Given the description of an element on the screen output the (x, y) to click on. 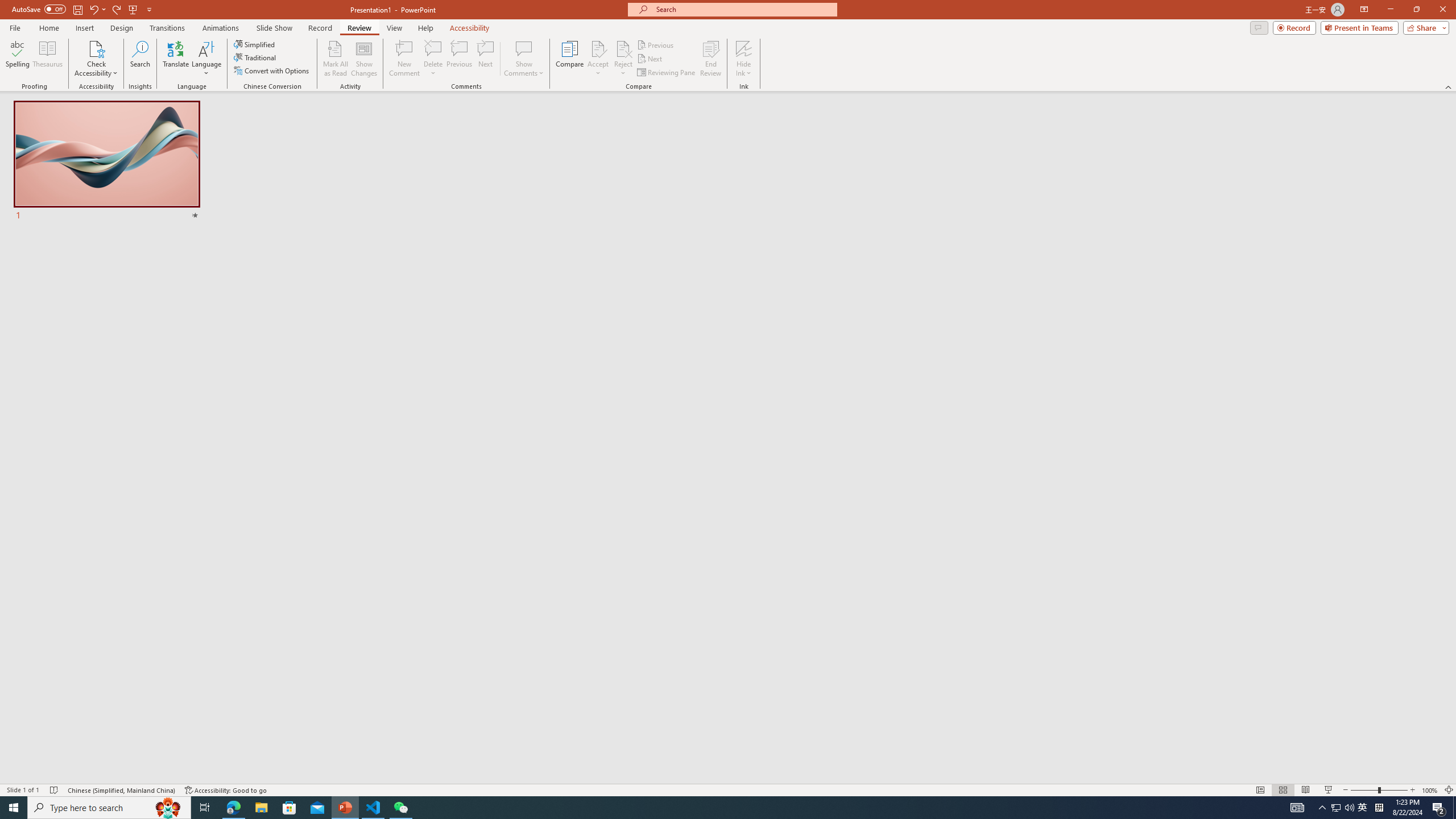
Translate (175, 58)
Accept (598, 58)
Reject (622, 58)
